Given the description of an element on the screen output the (x, y) to click on. 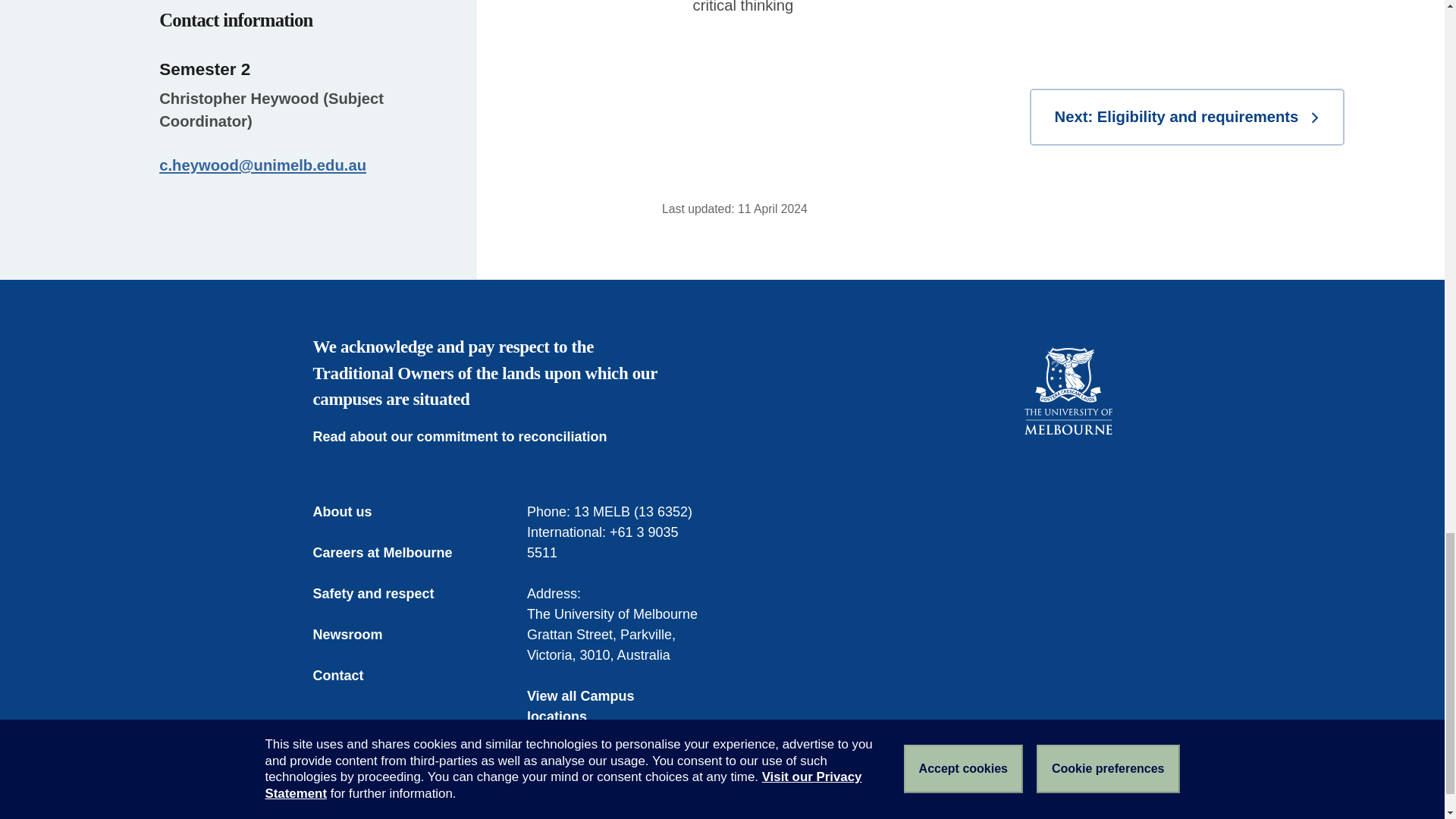
Next: Eligibility and requirements (1186, 116)
About us (353, 512)
Instagram (1115, 489)
Accessibility (532, 816)
Facebook (1019, 489)
Contact (349, 675)
Privacy (604, 816)
LinkedIn (1083, 489)
Newsroom (358, 634)
Twitter (1051, 489)
View all Campus locations (615, 706)
Safety and respect (384, 593)
Emergency (345, 816)
Read about our commitment to reconciliation (470, 436)
Careers at Melbourne (393, 552)
